Given the description of an element on the screen output the (x, y) to click on. 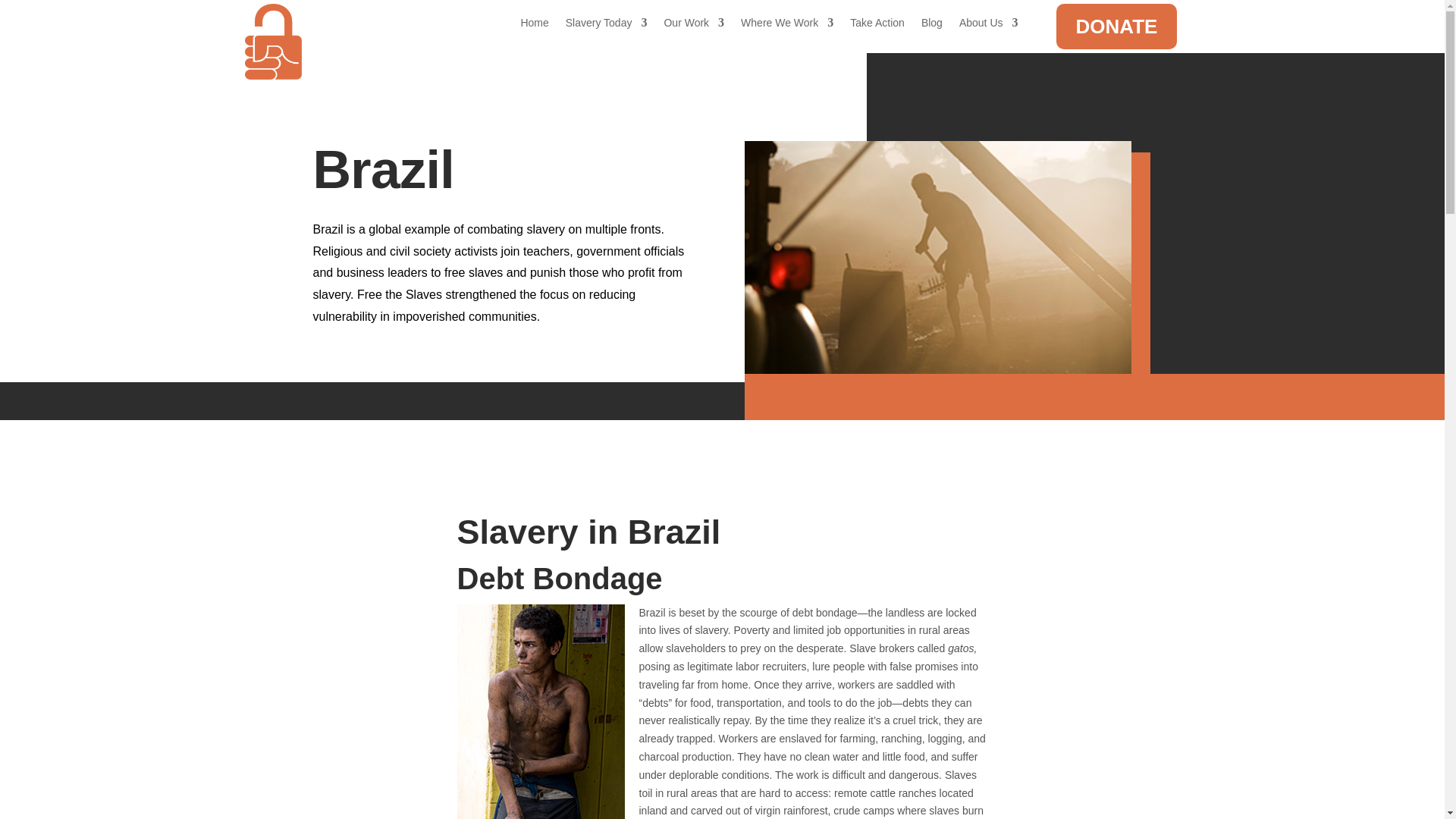
Where We Work (786, 25)
Our Work (693, 25)
Home (533, 25)
Slavery Today (606, 25)
